Given the description of an element on the screen output the (x, y) to click on. 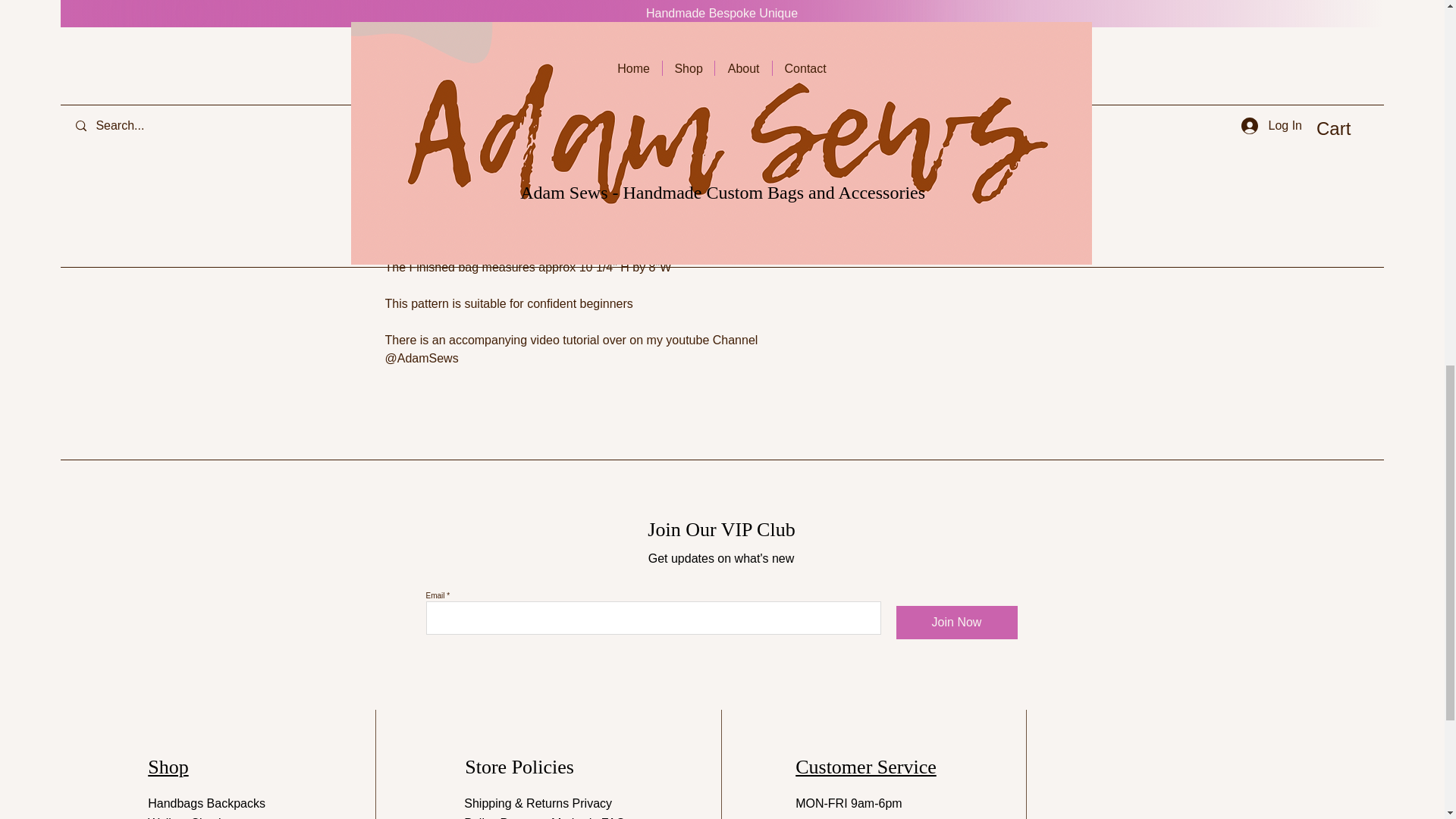
Join Now (956, 622)
Handbags Backpacks Wallets Clutches Accessories (206, 807)
Customer Service (865, 766)
Shop (167, 766)
